Given the description of an element on the screen output the (x, y) to click on. 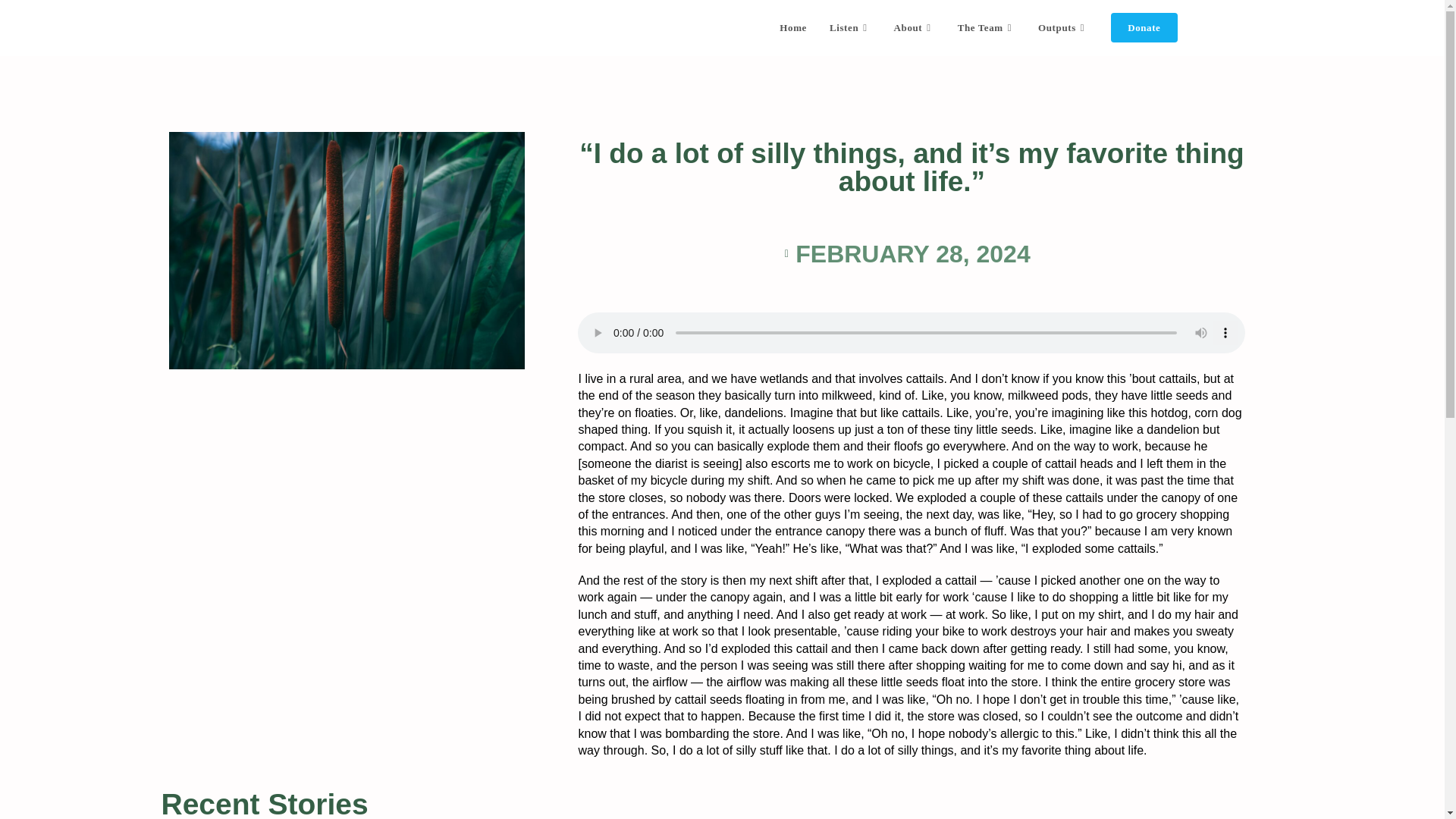
Listen (850, 28)
About (914, 28)
Home (793, 28)
The Team (986, 28)
Donate (1143, 28)
Outputs (1062, 28)
